Given the description of an element on the screen output the (x, y) to click on. 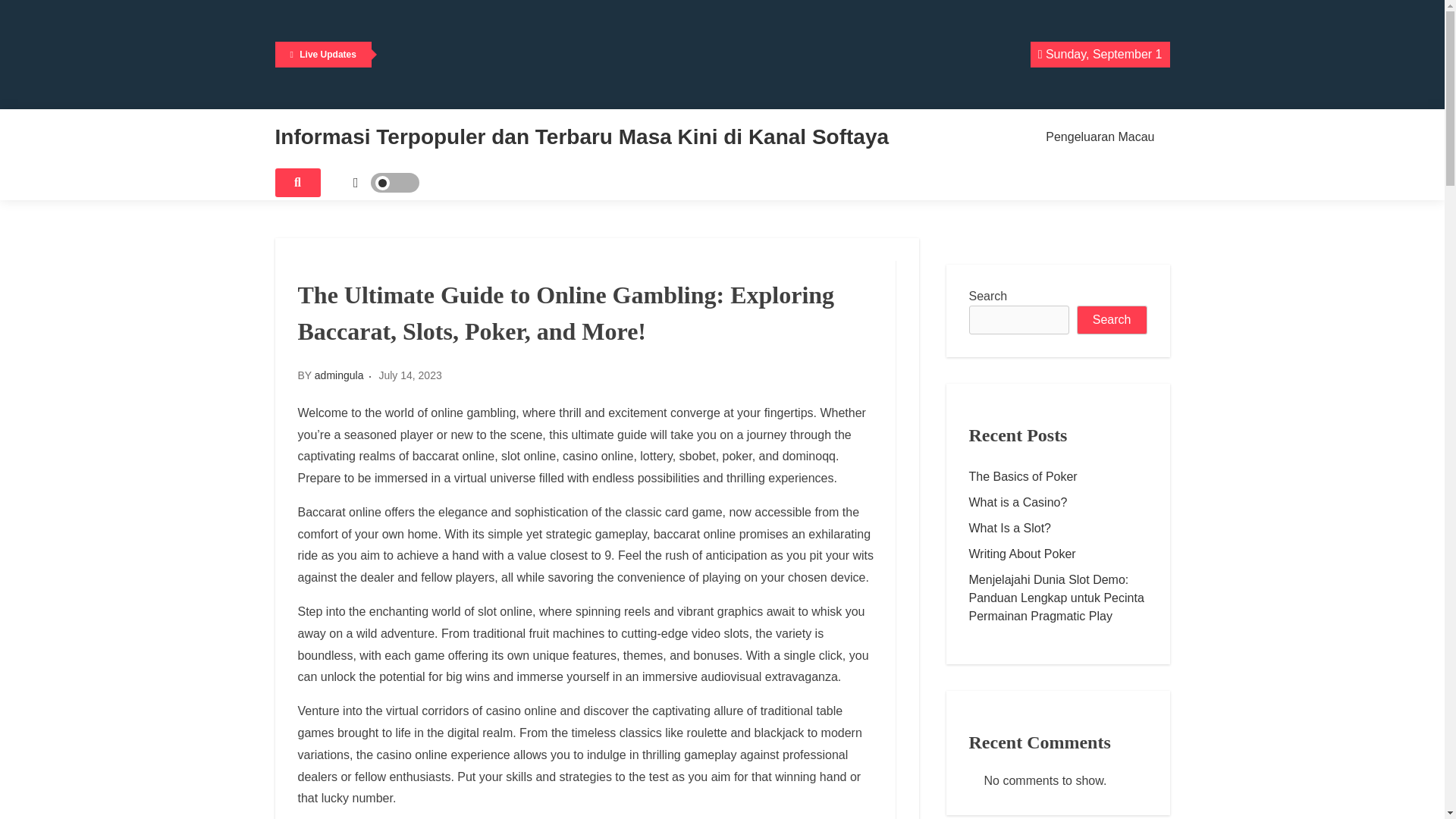
What is a Casino? (1058, 502)
Informasi Terpopuler dan Terbaru Masa Kini di Kanal Softaya (581, 136)
July 14, 2023 (409, 375)
Pengeluaran Macau (1099, 136)
Search (1112, 319)
admingula (339, 375)
The Basics of Poker (1058, 476)
What Is a Slot? (1058, 528)
Writing About Poker (1058, 554)
